Given the description of an element on the screen output the (x, y) to click on. 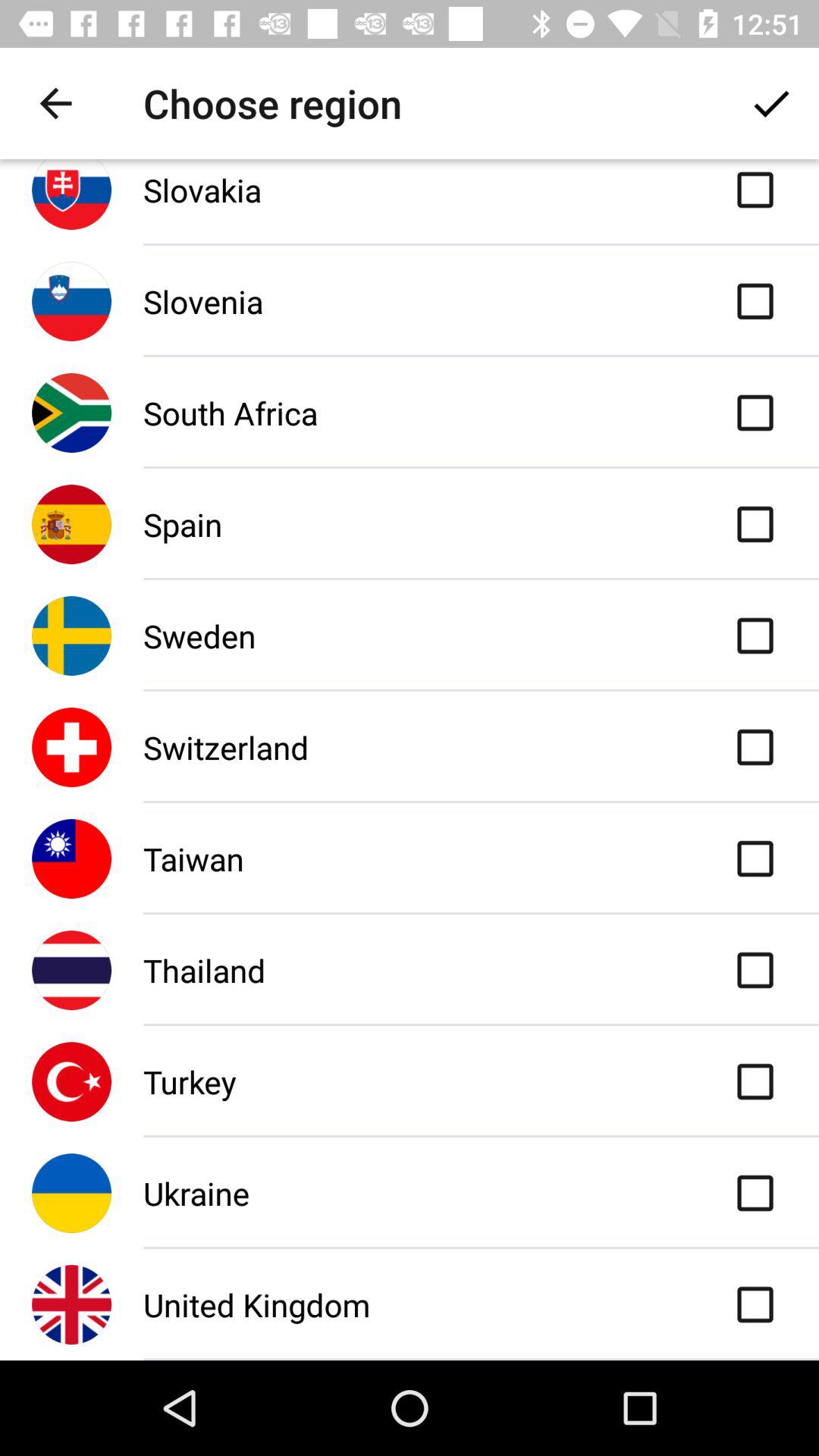
tap item to the right of the choose region item (771, 103)
